Given the description of an element on the screen output the (x, y) to click on. 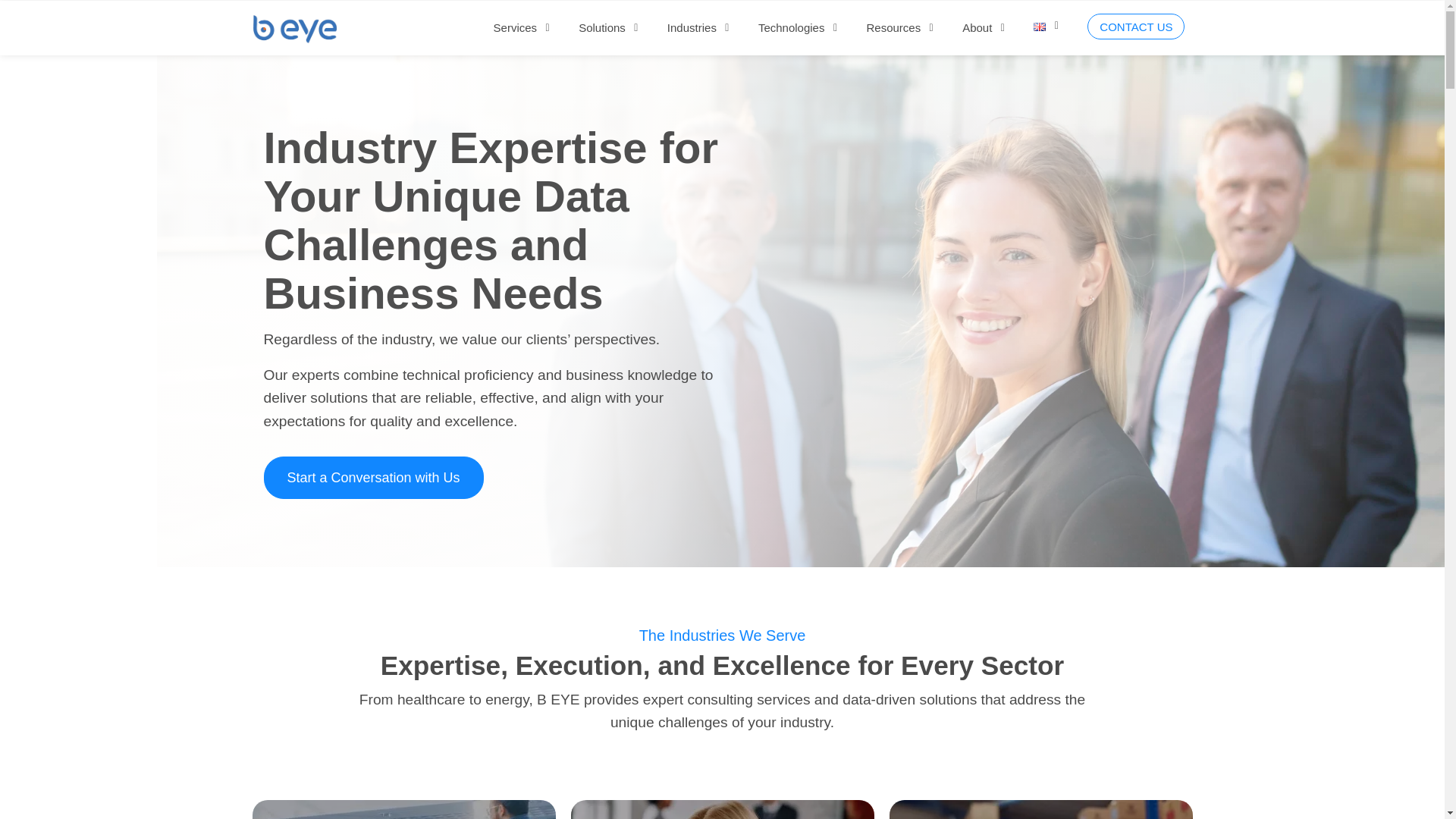
Services (515, 27)
Solutions (602, 27)
Industries (691, 27)
